Given the description of an element on the screen output the (x, y) to click on. 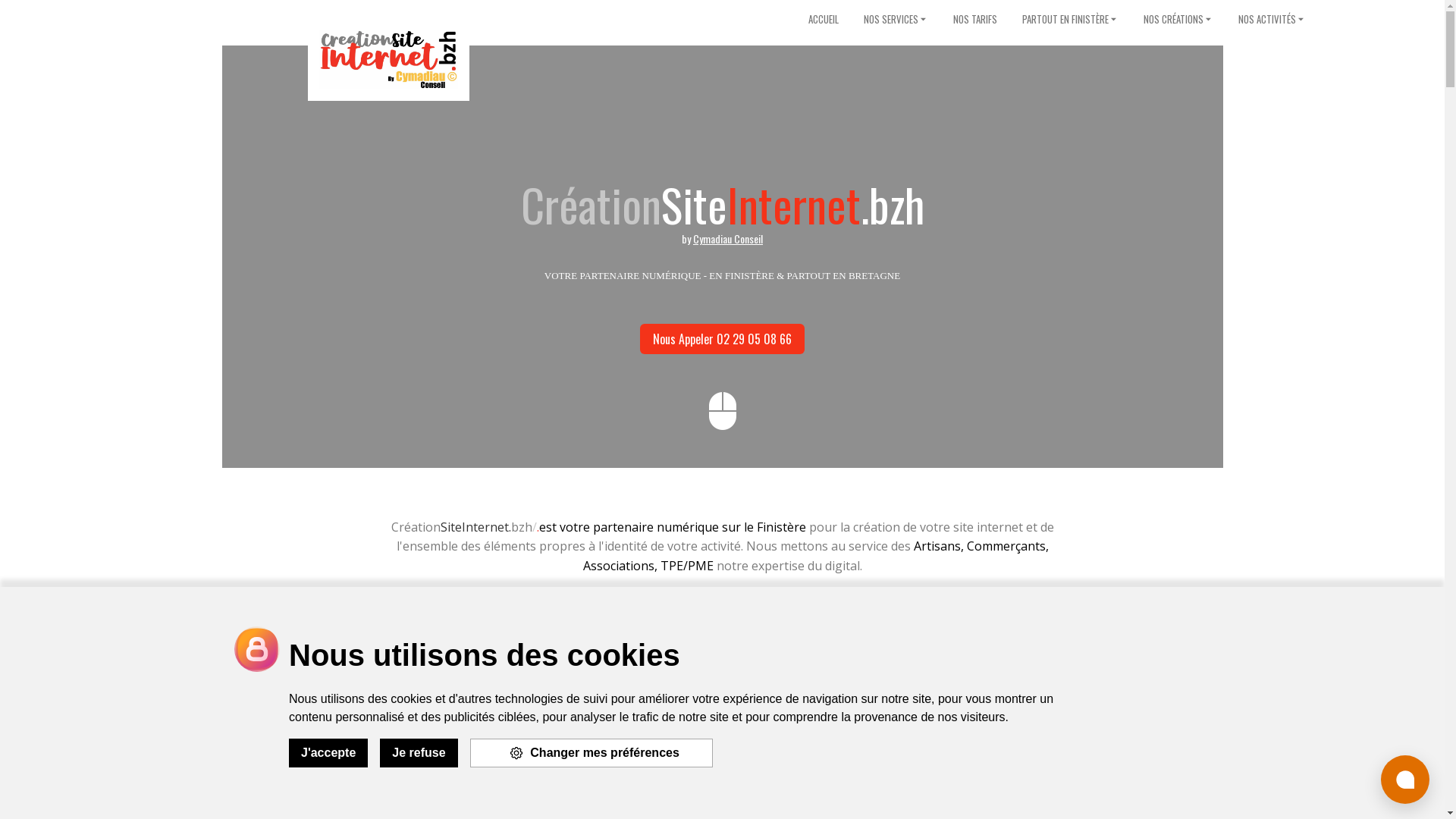
Cymadiau Conseil Element type: text (727, 238)
www.creationsiteinternet.bzh Element type: hover (388, 59)
ACCUEIL Element type: text (823, 19)
Nous Appeler 02 29 05 08 66 Element type: text (722, 338)
NOS TARIFS Element type: text (975, 19)
Open chat window Element type: hover (1404, 779)
Nous Appeler Element type: text (763, 613)
NOS SERVICES Element type: text (895, 19)
